Given the description of an element on the screen output the (x, y) to click on. 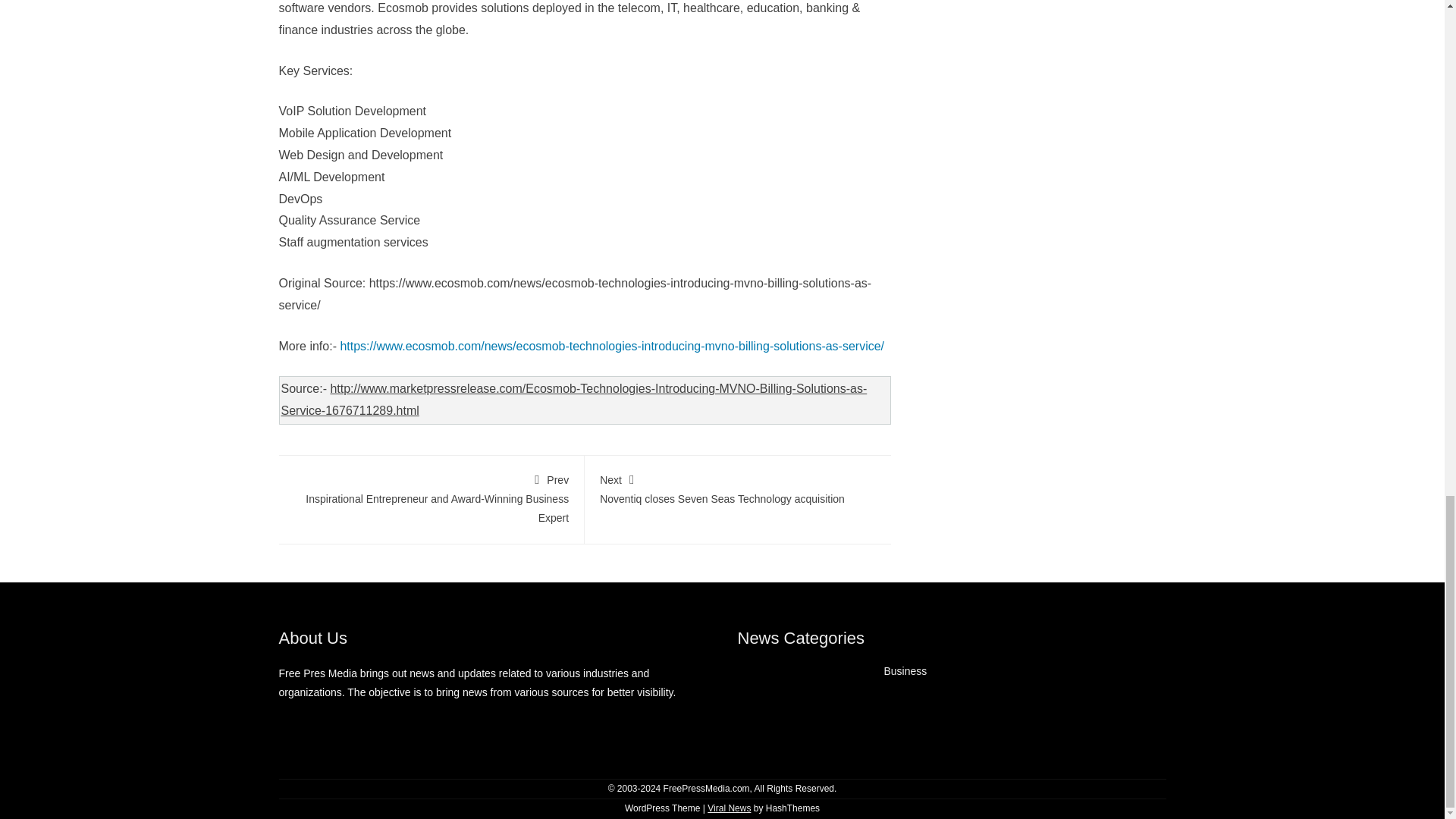
Viral News (729, 808)
Download Viral News (737, 487)
Business (729, 808)
